Given the description of an element on the screen output the (x, y) to click on. 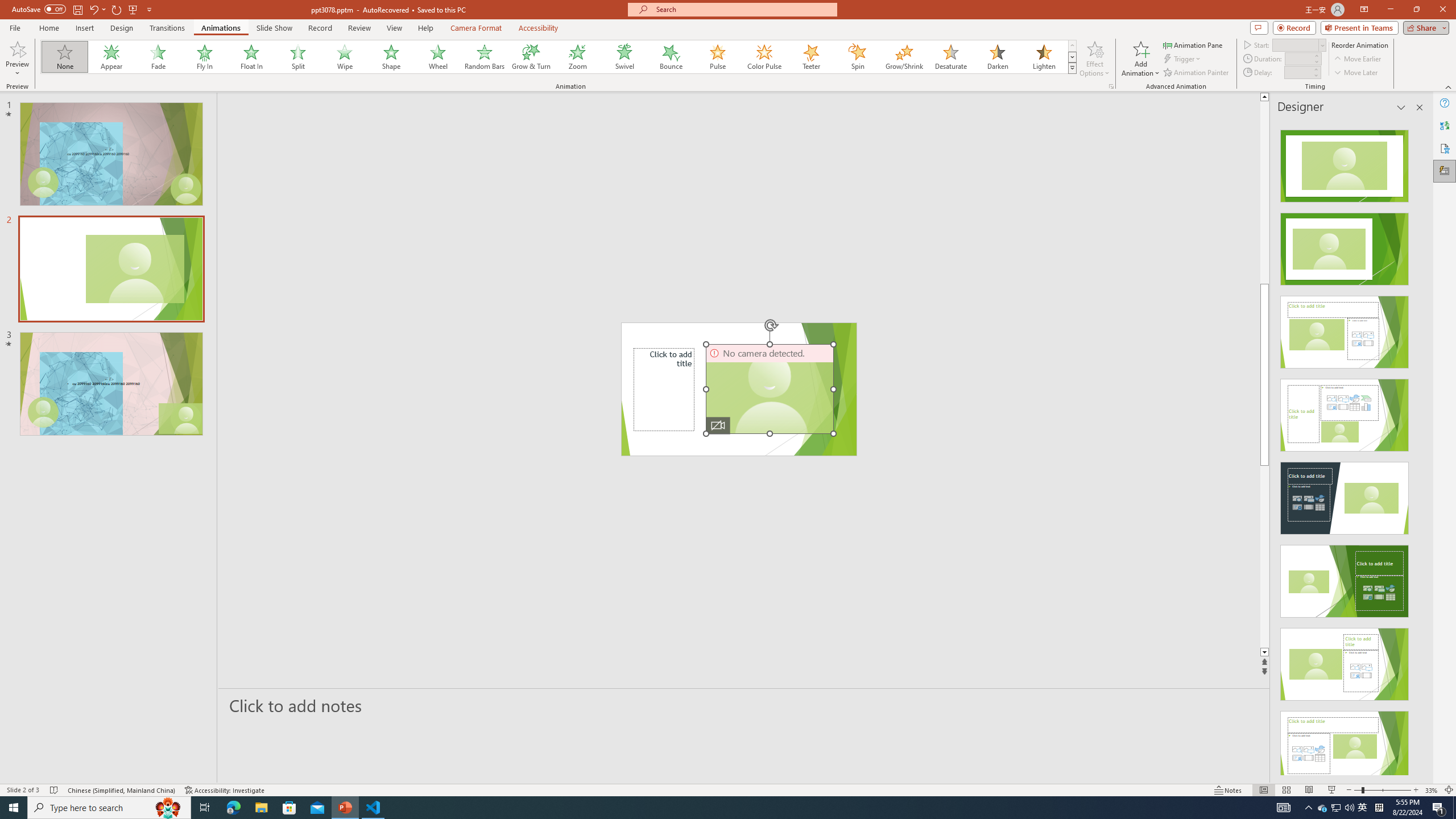
Move Later (1355, 72)
Wheel (437, 56)
Wipe (344, 56)
Split (298, 56)
More Options... (1110, 85)
Random Bars (484, 56)
